Given the description of an element on the screen output the (x, y) to click on. 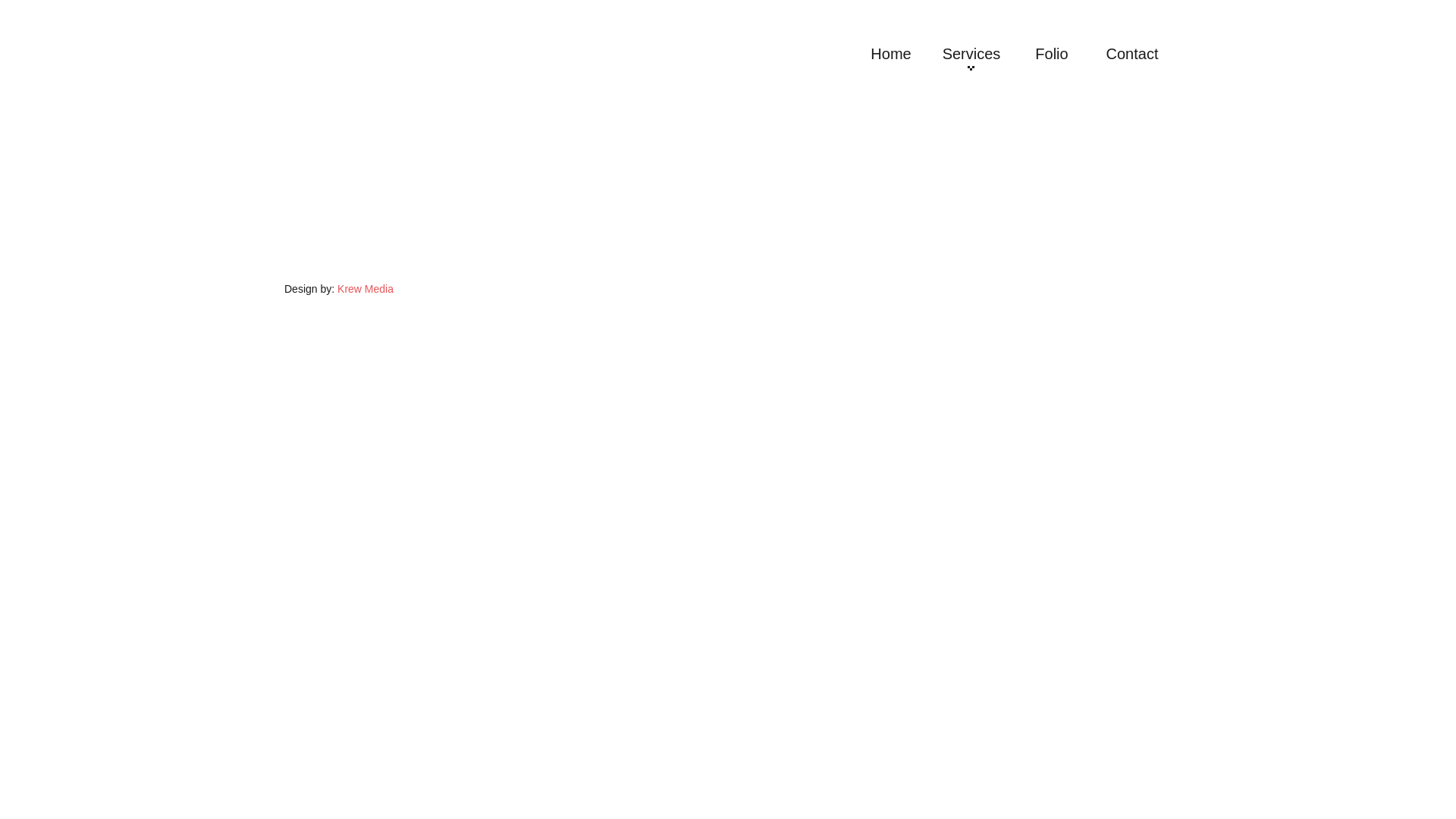
Folio Element type: text (1051, 54)
Home Element type: text (890, 54)
Krew Media Element type: text (365, 288)
Services Element type: text (971, 54)
Contact Element type: text (1132, 54)
